Given the description of an element on the screen output the (x, y) to click on. 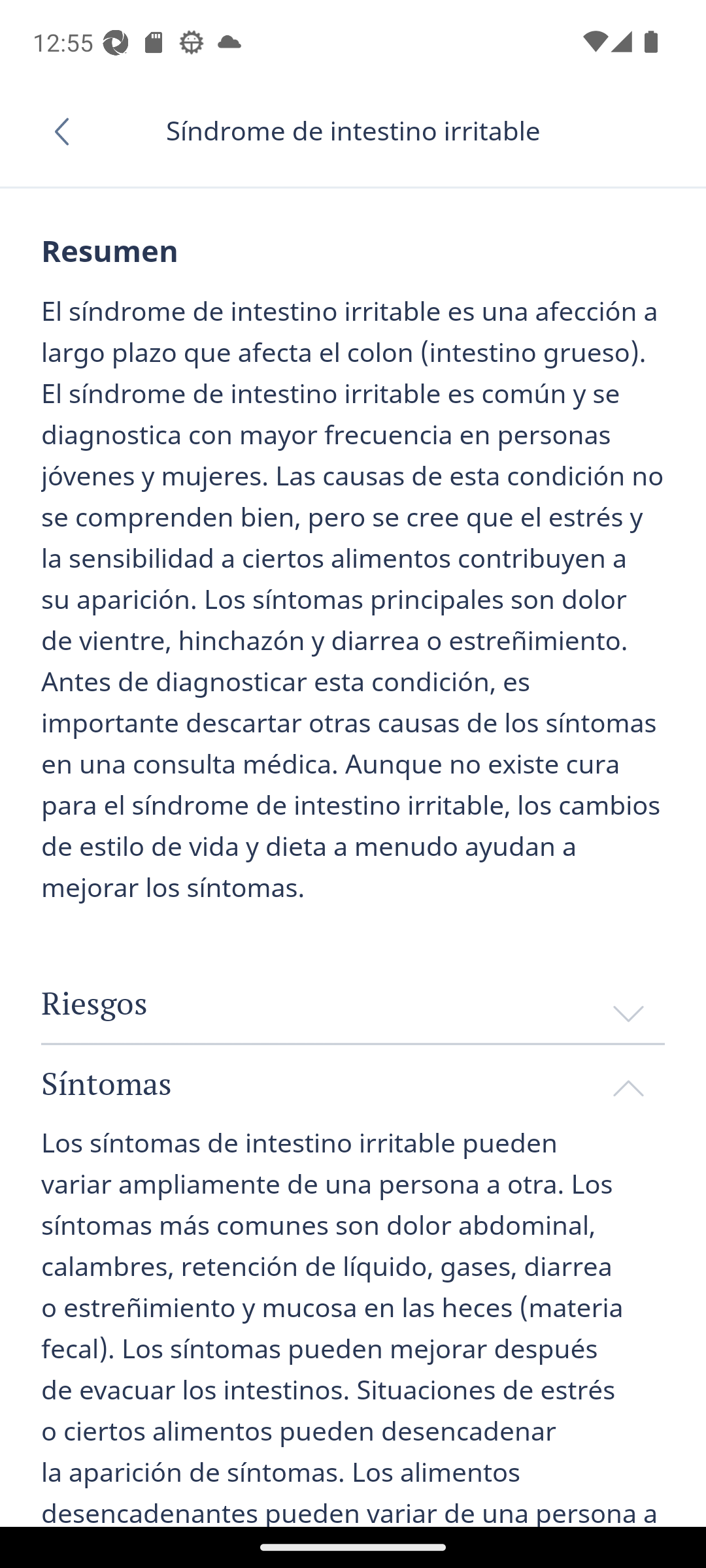
Go back, Navigates to the previous screen (68, 131)
Riesgos  (352, 1003)
Síntomas  (352, 1083)
